Given the description of an element on the screen output the (x, y) to click on. 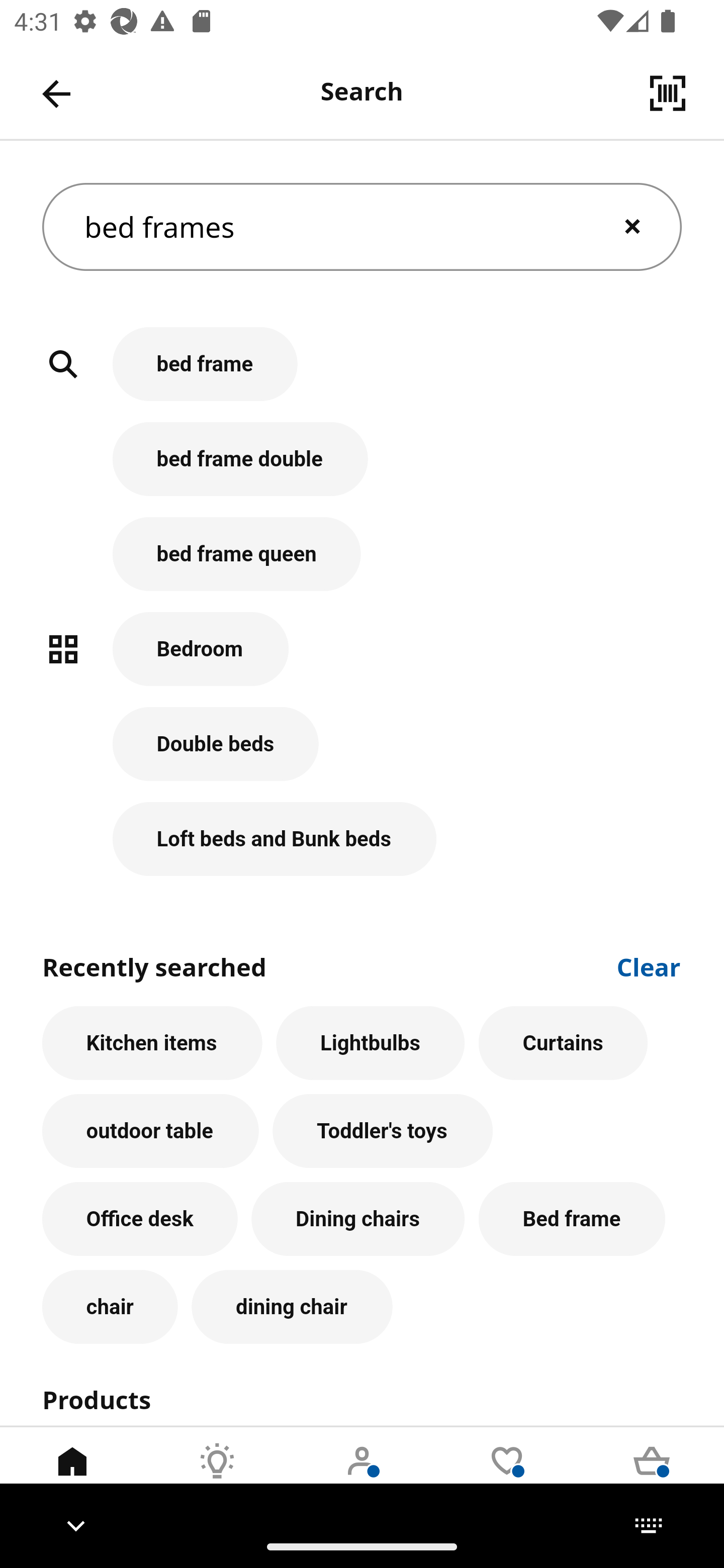
bed frames (361, 227)
bed frame (361, 374)
bed frame double (361, 469)
bed frame queen (361, 564)
Bedroom (361, 659)
Double beds (361, 754)
Loft beds and Bunk beds (361, 839)
Clear (649, 965)
Kitchen items (151, 1043)
Lightbulbs (370, 1043)
Curtains (562, 1043)
outdoor table (150, 1131)
Toddler's toys (382, 1131)
Office desk (139, 1218)
Dining chairs (357, 1218)
Bed frame (571, 1218)
chair (109, 1306)
dining chair (291, 1306)
Home
Tab 1 of 5 (72, 1476)
Inspirations
Tab 2 of 5 (216, 1476)
User
Tab 3 of 5 (361, 1476)
Wishlist
Tab 4 of 5 (506, 1476)
Cart
Tab 5 of 5 (651, 1476)
